Given the description of an element on the screen output the (x, y) to click on. 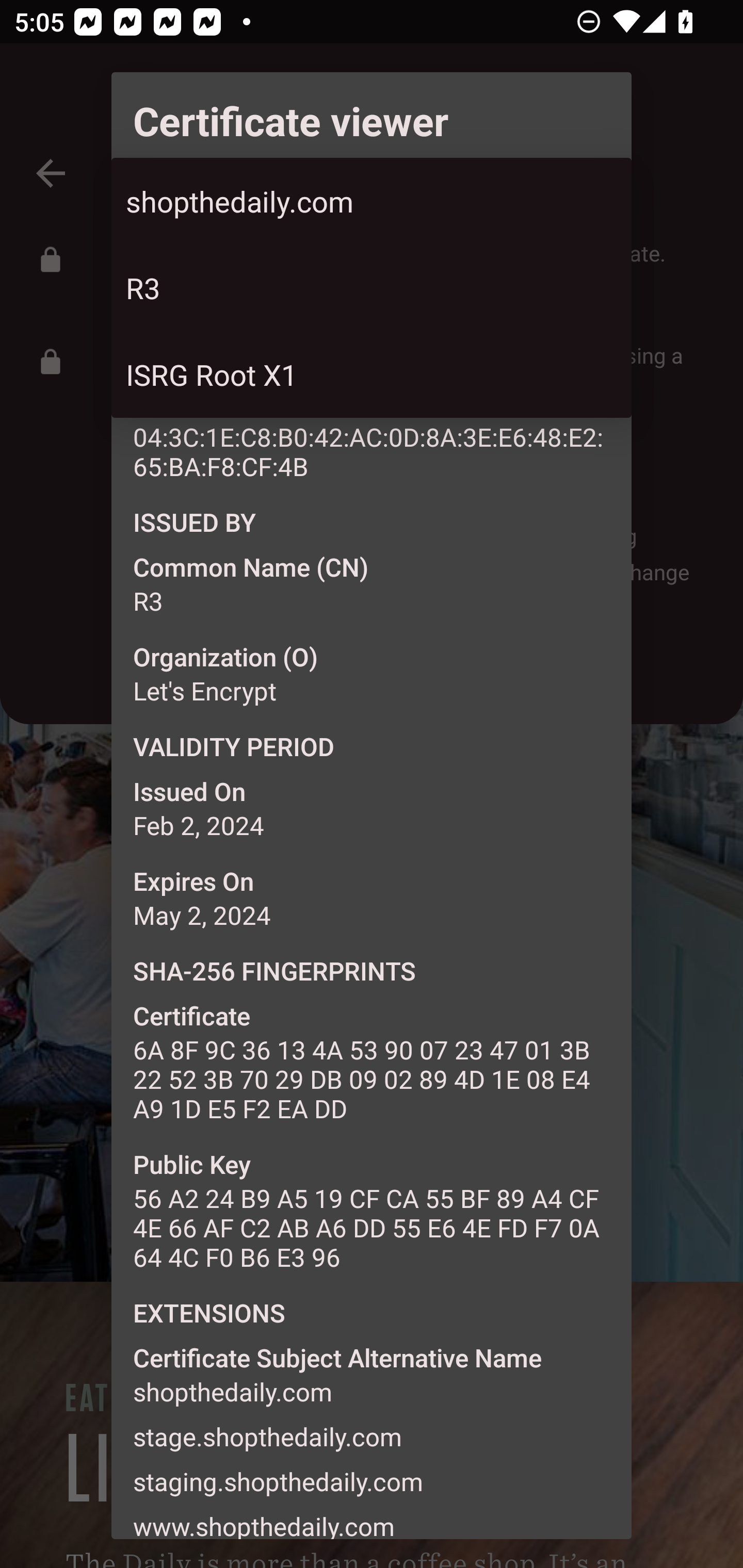
shopthedaily.com (371, 201)
R3 (371, 287)
ISRG Root X1 (371, 373)
